Given the description of an element on the screen output the (x, y) to click on. 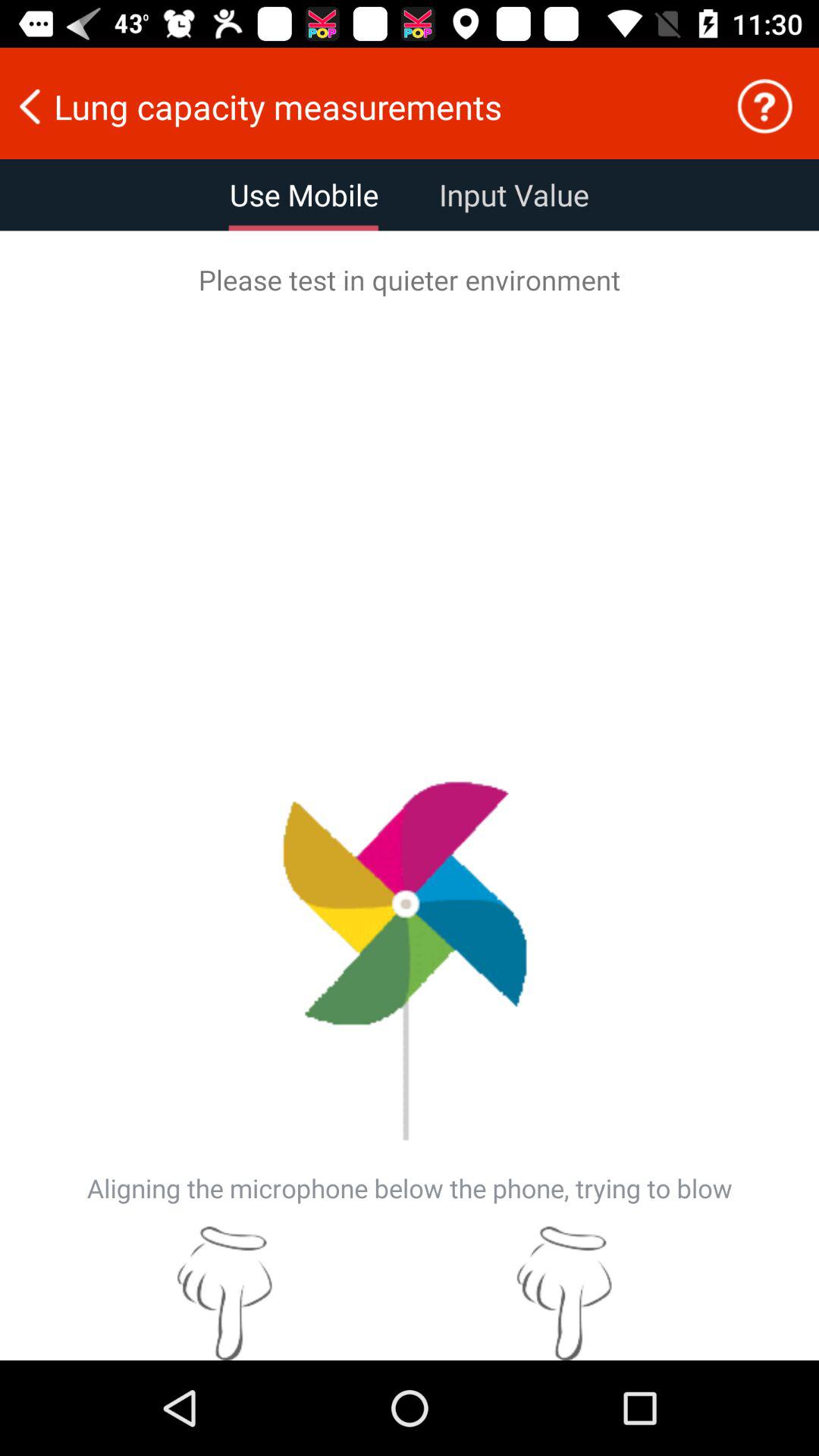
scroll to use mobile item (303, 194)
